Given the description of an element on the screen output the (x, y) to click on. 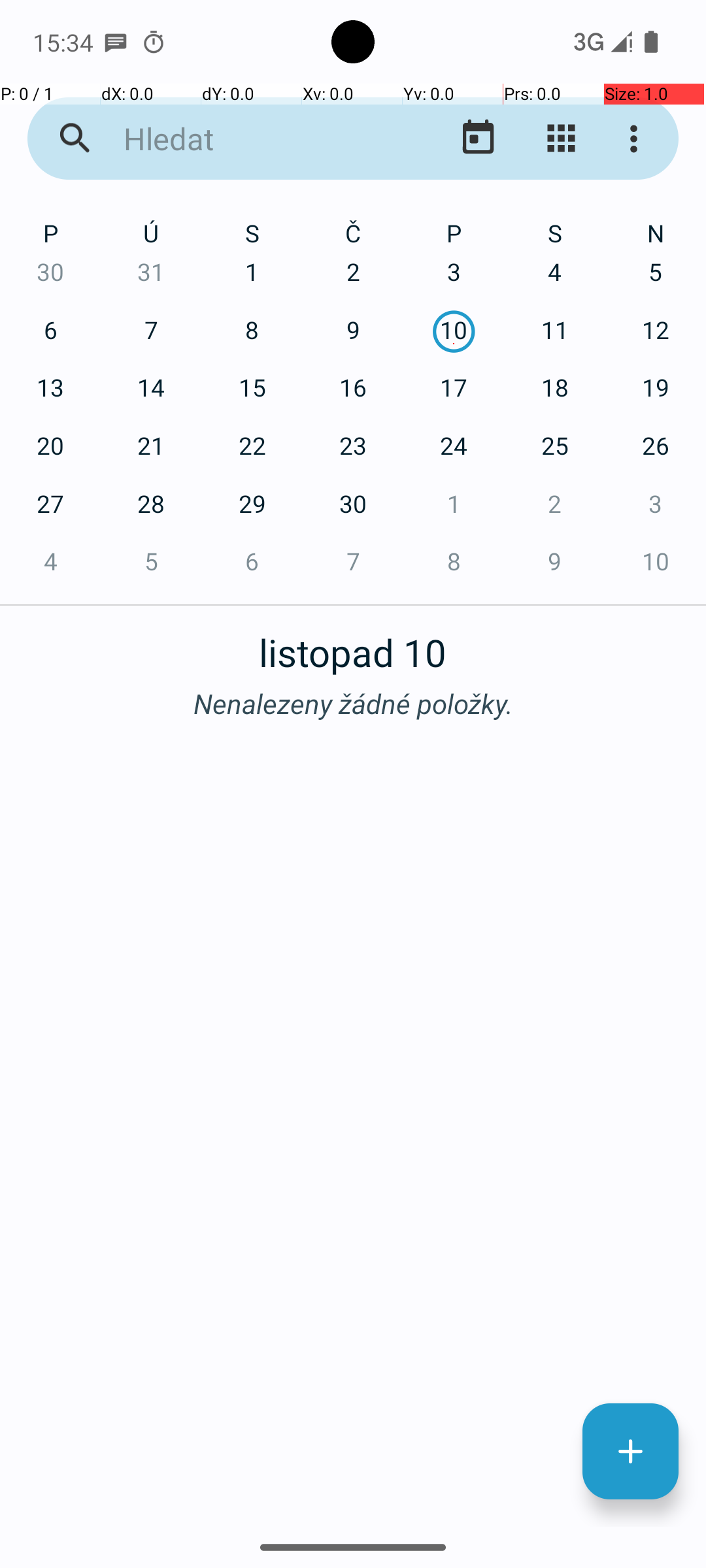
listopad 10 Element type: android.widget.TextView (352, 644)
Nenalezeny žádné položky. Element type: android.widget.TextView (352, 702)
SMS Messenger notification: +17247648679 Element type: android.widget.ImageView (115, 41)
